Given the description of an element on the screen output the (x, y) to click on. 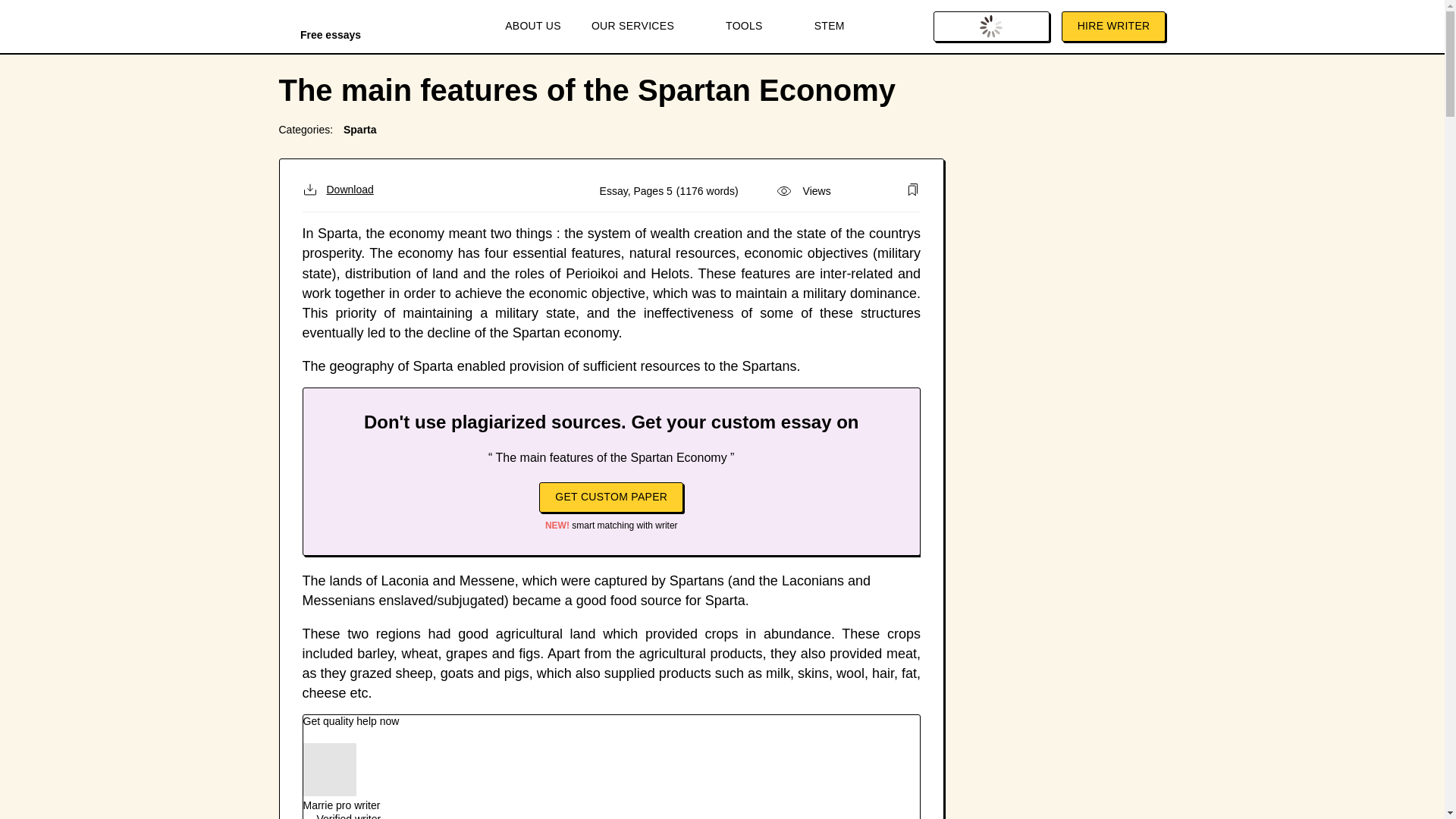
HIRE WRITER (1113, 26)
OUR SERVICES (643, 26)
GET CUSTOM PAPER (610, 497)
STEM (829, 26)
TOOLS (754, 26)
ABOUT US (532, 26)
Free essays (330, 29)
Sparta (360, 129)
Download (336, 189)
